Given the description of an element on the screen output the (x, y) to click on. 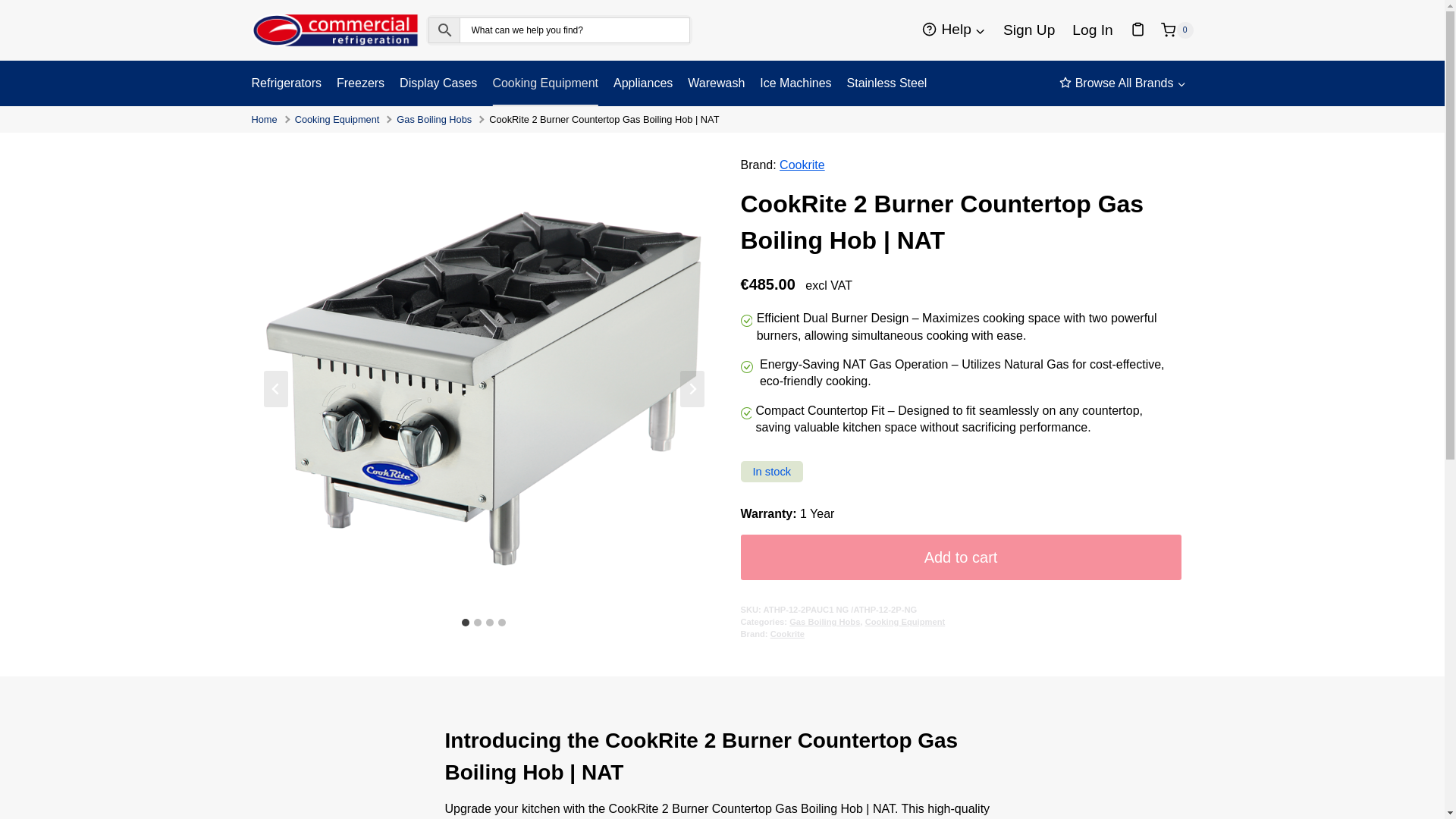
Log In (1092, 30)
Freezers (360, 83)
Refrigerators (290, 83)
Access your account (1092, 30)
Sign Up (1029, 30)
Display Cases (437, 83)
Create an account (1029, 30)
Help (954, 30)
0 (1176, 30)
